Given the description of an element on the screen output the (x, y) to click on. 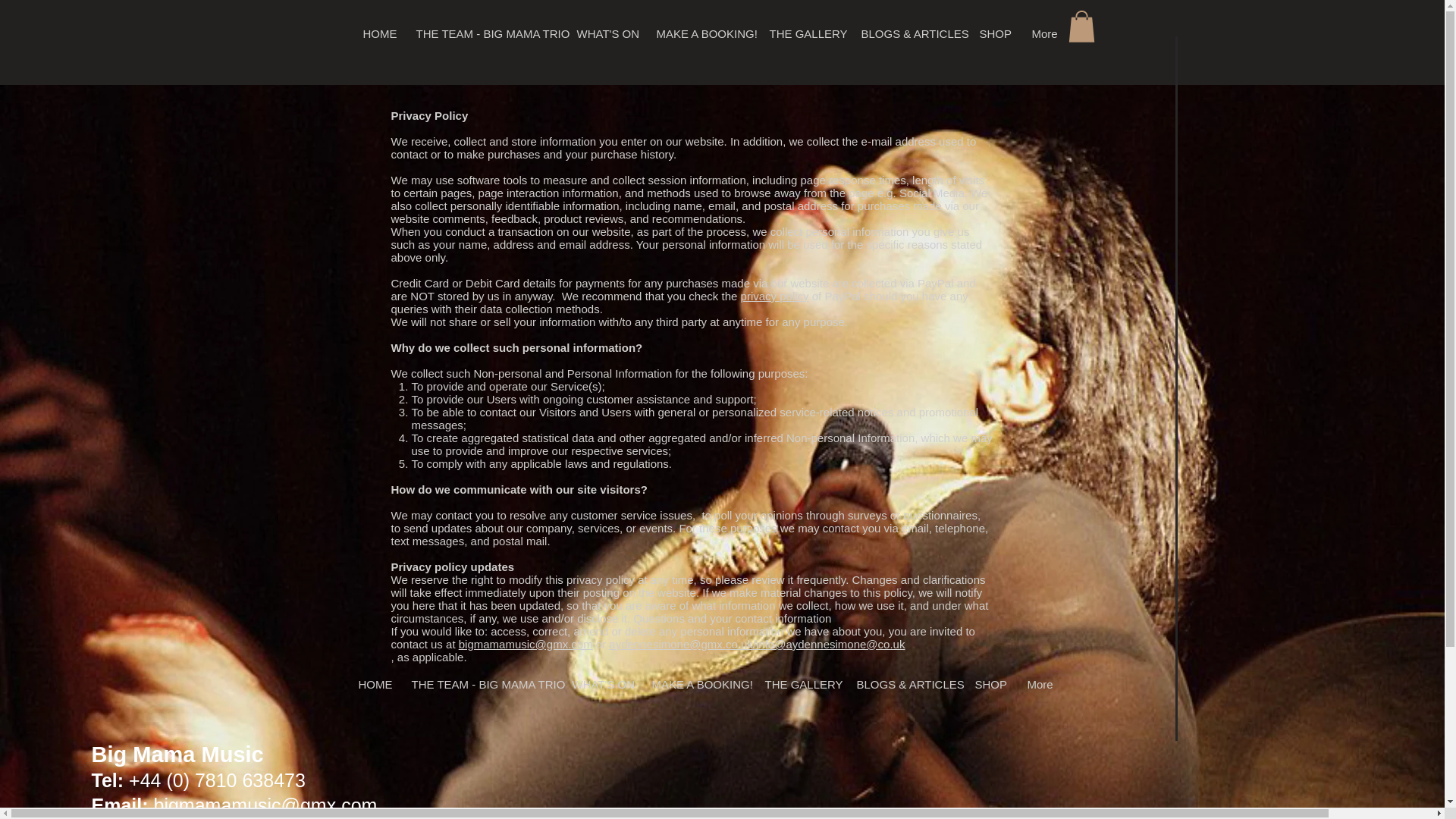
THE TEAM - BIG MAMA TRIO (483, 34)
THE GALLERY (802, 34)
HOME (376, 34)
MAKE A BOOKING! (701, 34)
WHAT'S ON (603, 34)
